Given the description of an element on the screen output the (x, y) to click on. 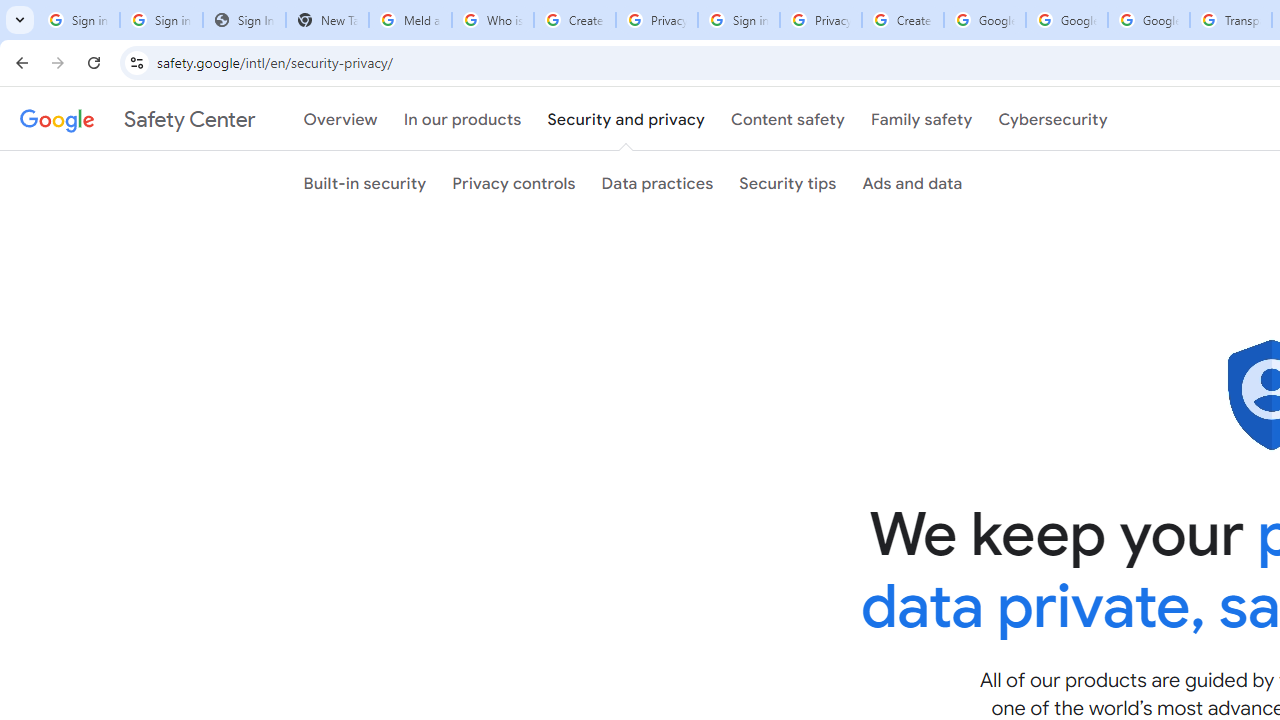
Sign in - Google Accounts (161, 20)
Google Account (1149, 20)
Content safety (787, 119)
Data practices (657, 183)
Family safety (921, 119)
Built-in security (365, 183)
Ads and data (911, 183)
Privacy controls (513, 183)
Security tips (787, 183)
New Tab (326, 20)
Safety Center (137, 119)
